Given the description of an element on the screen output the (x, y) to click on. 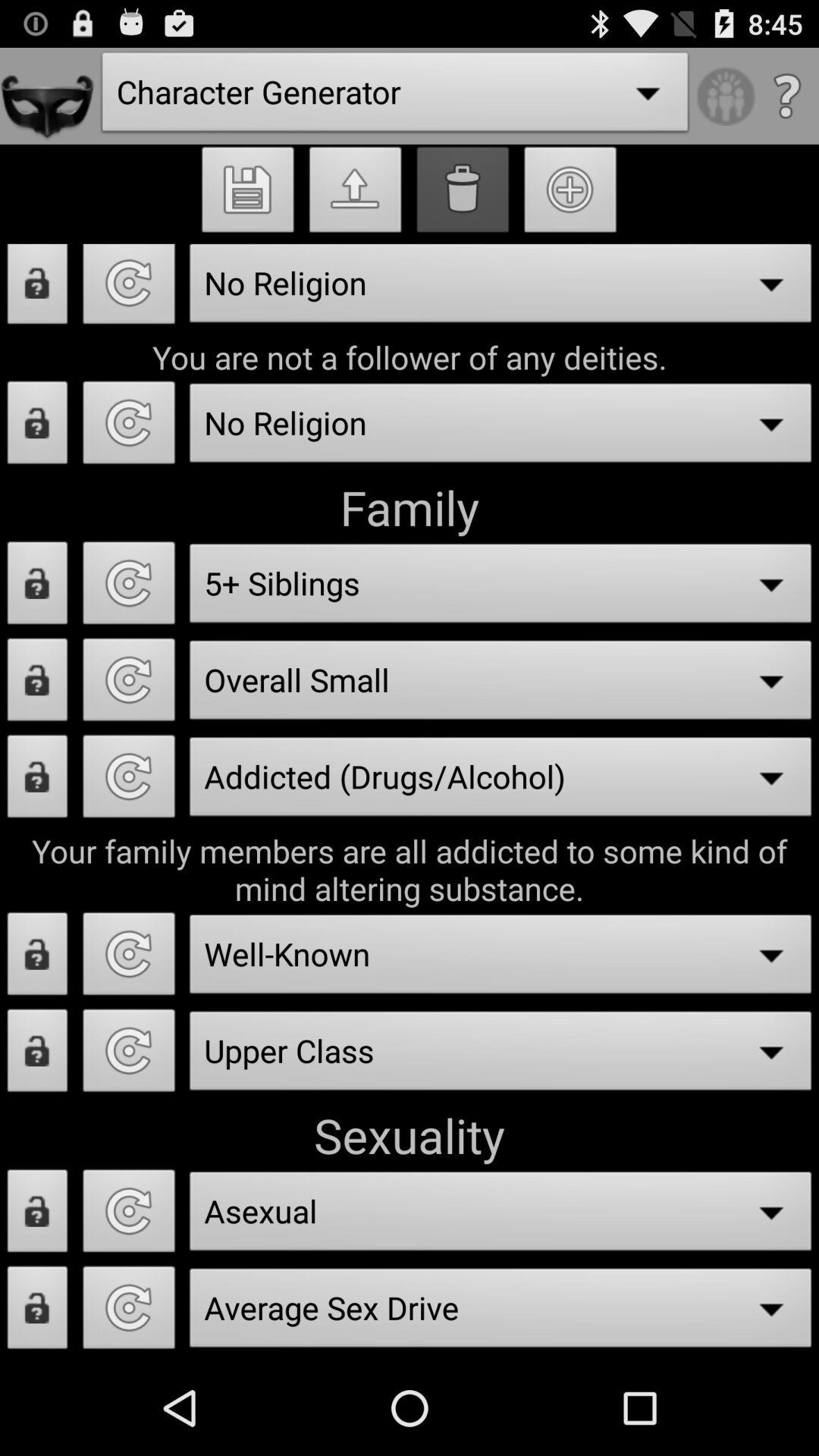
refresh button (129, 426)
